Given the description of an element on the screen output the (x, y) to click on. 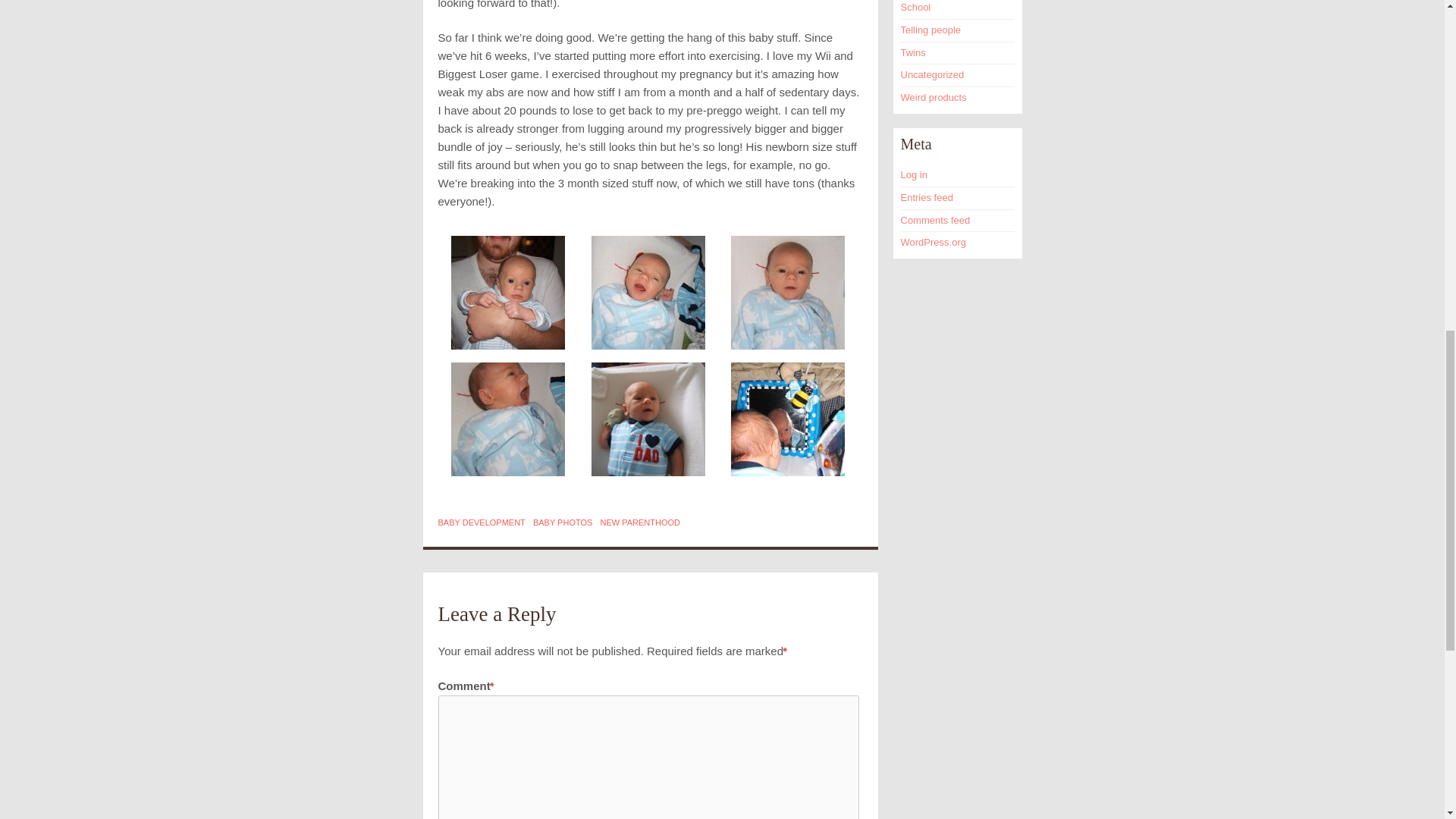
BABY PHOTOS (562, 522)
Telling people (930, 30)
WordPress.org (933, 242)
Log in (914, 174)
Twins (913, 52)
Weird products (933, 97)
Uncategorized (932, 74)
NEW PARENTHOOD (639, 522)
BABY DEVELOPMENT (481, 522)
Entries feed (927, 197)
School (916, 7)
Comments feed (936, 220)
